Given the description of an element on the screen output the (x, y) to click on. 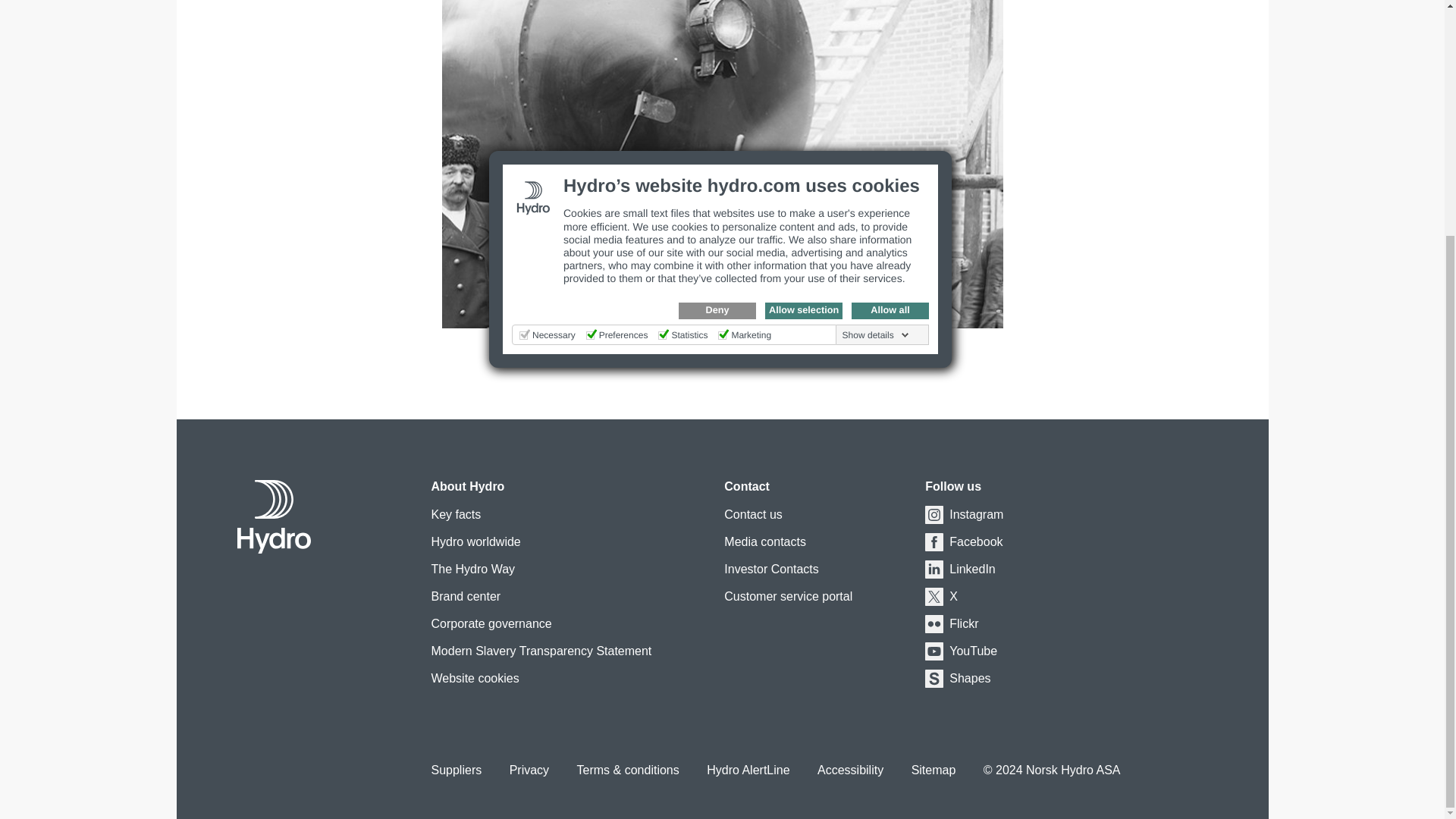
Show details (876, 13)
